Given the description of an element on the screen output the (x, y) to click on. 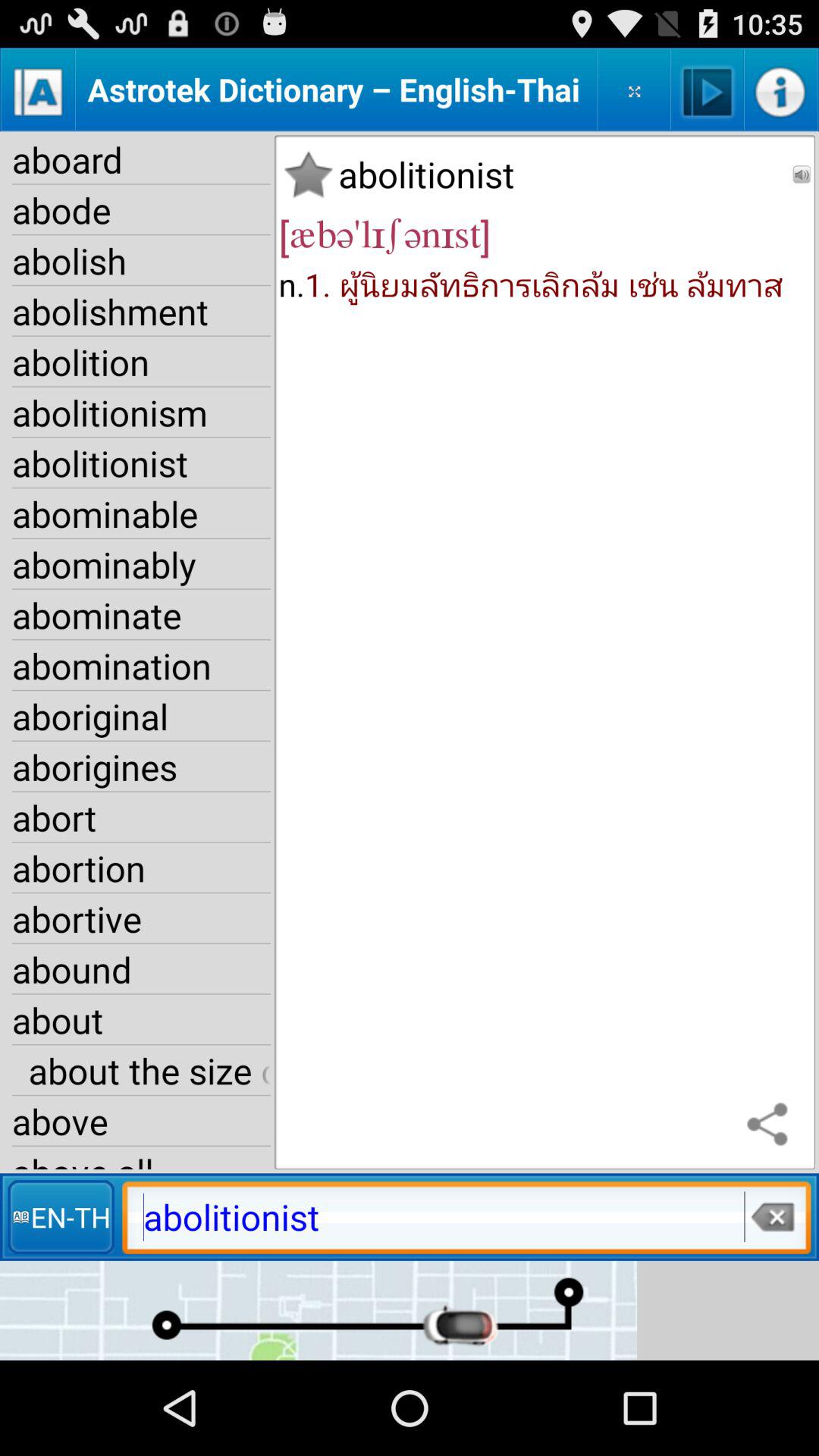
access information about app (780, 89)
